Given the description of an element on the screen output the (x, y) to click on. 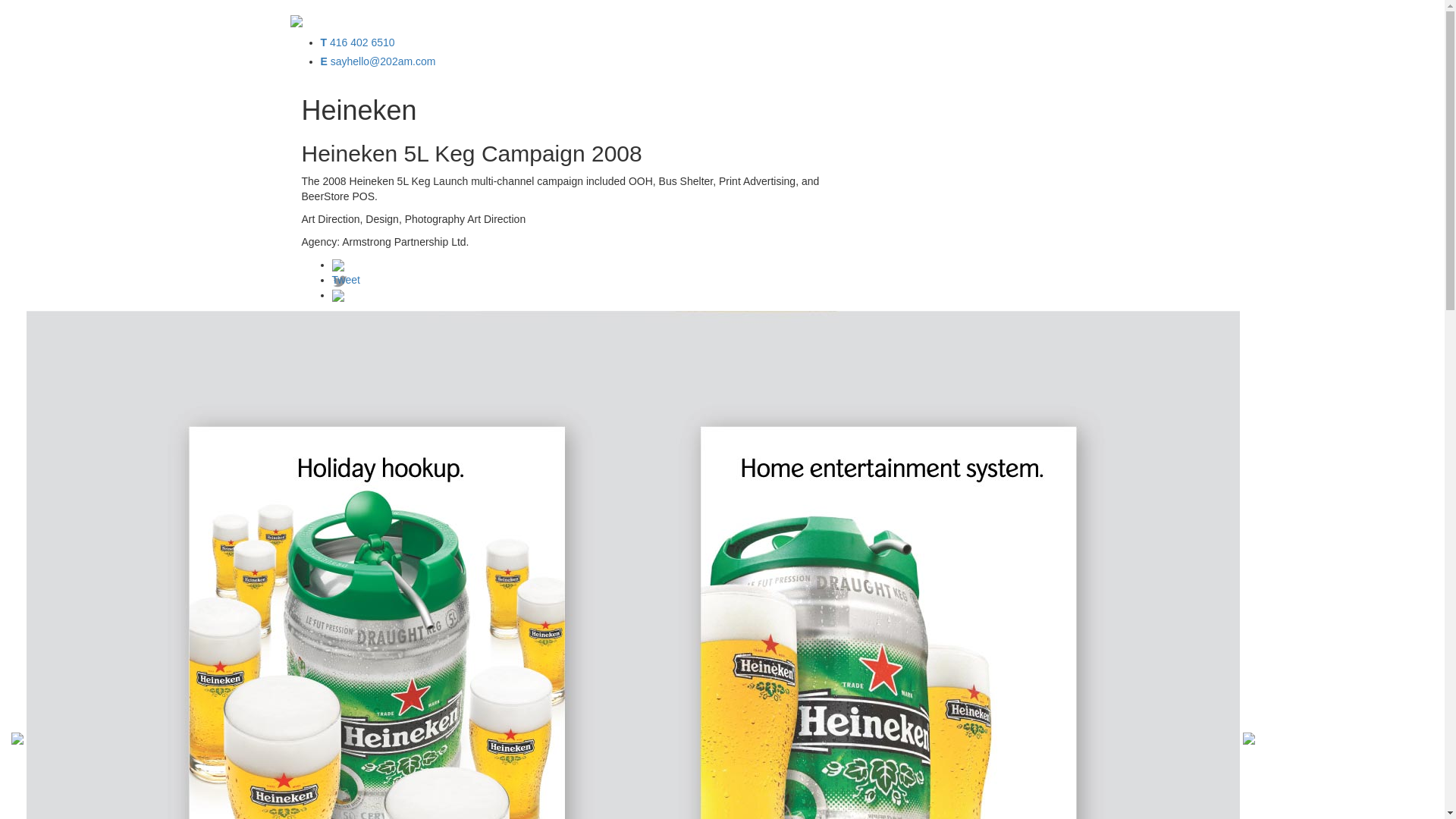
202am Element type: hover (295, 18)
Tweet Element type: text (346, 279)
E sayhello@202am.com Element type: text (377, 61)
T 416 402 6510 Element type: text (357, 42)
